Given the description of an element on the screen output the (x, y) to click on. 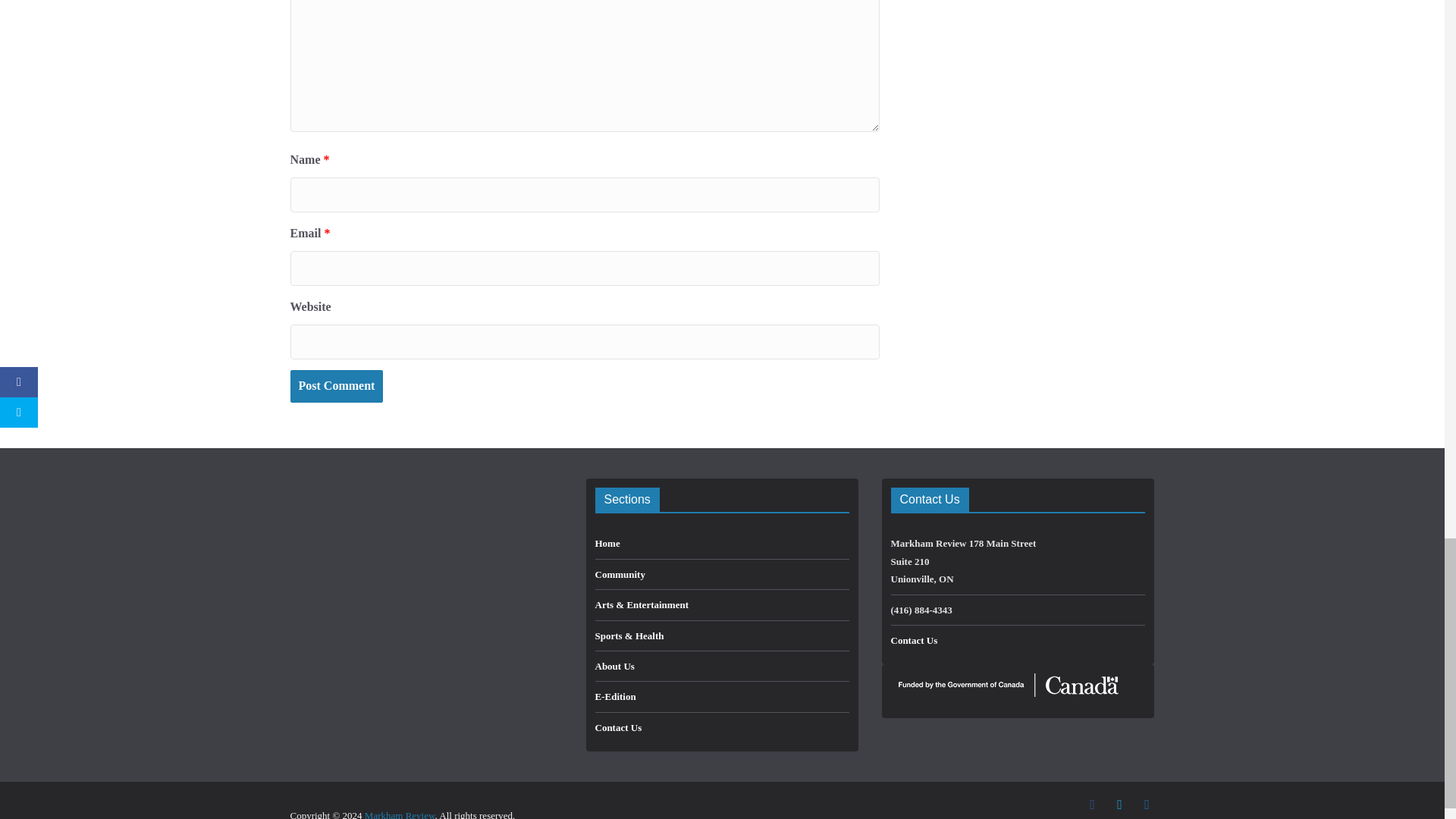
Post Comment (335, 386)
Post Comment (335, 386)
